Given the description of an element on the screen output the (x, y) to click on. 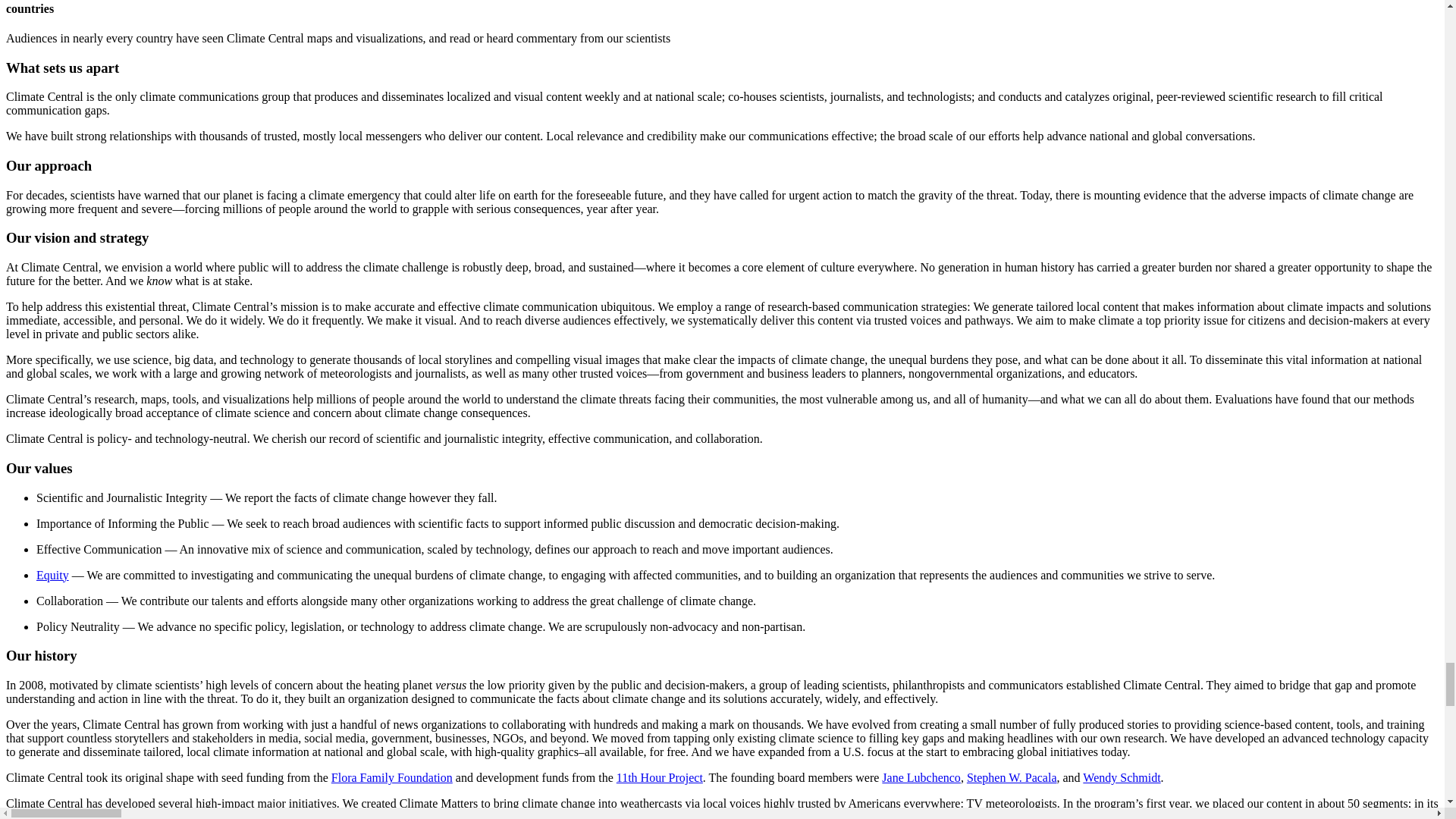
Jane Lubchenco (921, 777)
Stephen W. Pacala (1011, 777)
Equity (52, 574)
11th Hour Project (659, 777)
Flora Family Foundation (391, 777)
